Given the description of an element on the screen output the (x, y) to click on. 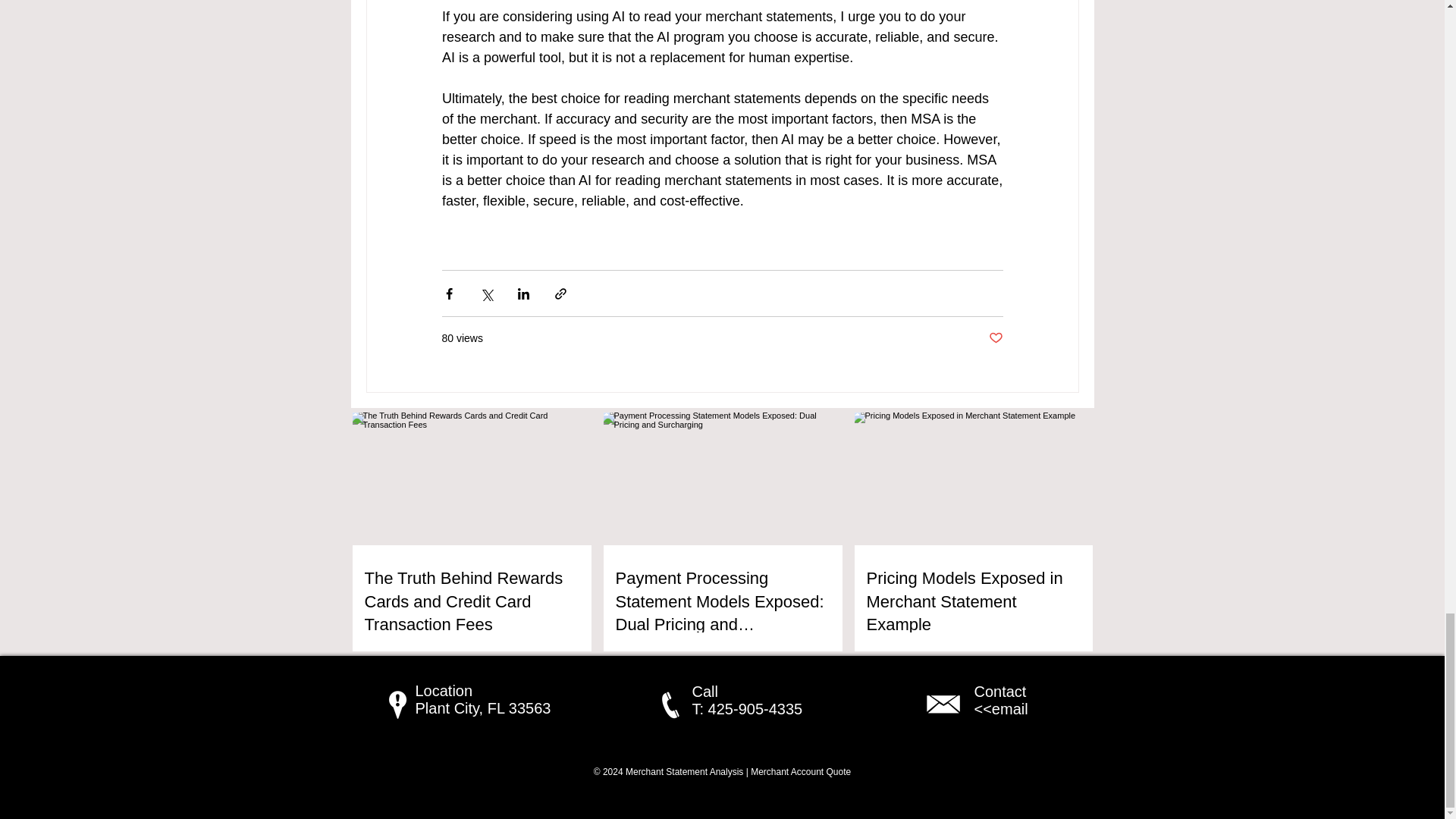
MSA email (942, 703)
Post not marked as liked (995, 338)
Pricing Models Exposed in Merchant Statement Example (973, 602)
